Given the description of an element on the screen output the (x, y) to click on. 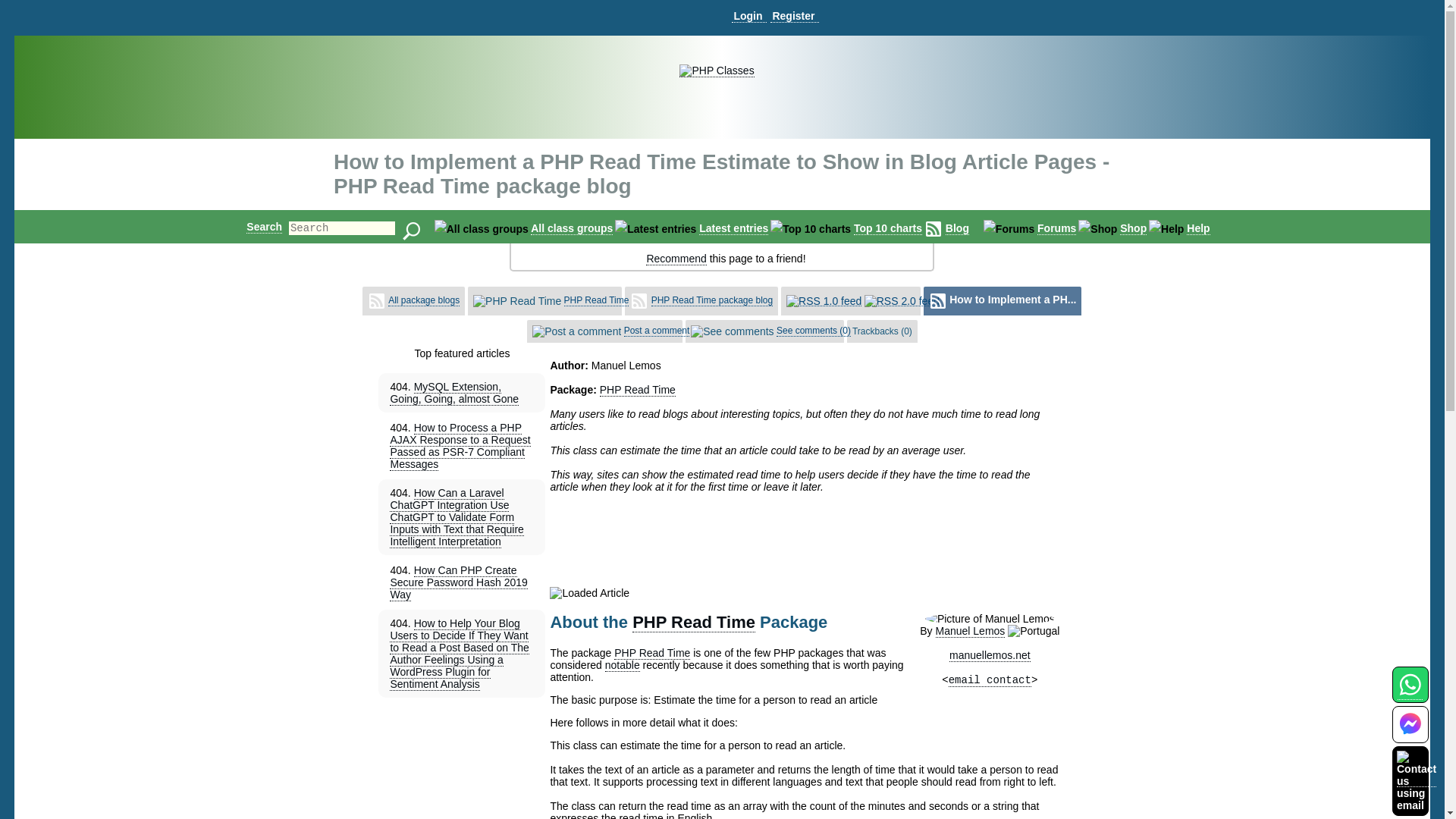
PHP Read Time package blog (711, 300)
PHP Read Time (637, 390)
PHP Read Time (693, 622)
Search (264, 226)
email contact (989, 680)
All package blogs (424, 300)
Register (794, 15)
Login (748, 15)
Top 10 charts (887, 228)
Portugal (1033, 630)
Recommend (676, 258)
Manuel Lemos (971, 631)
Shop (1133, 228)
Forums (1055, 228)
